Given the description of an element on the screen output the (x, y) to click on. 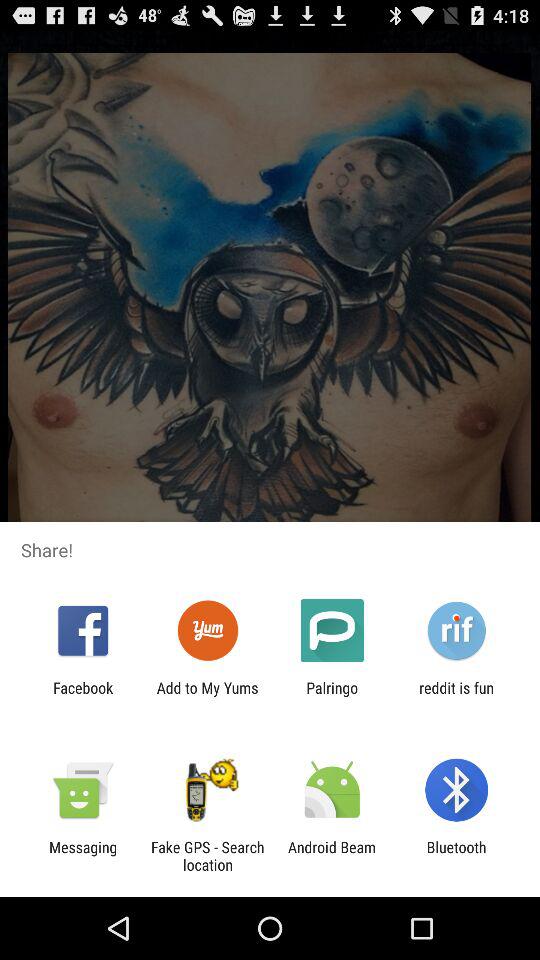
flip until add to my (207, 696)
